Given the description of an element on the screen output the (x, y) to click on. 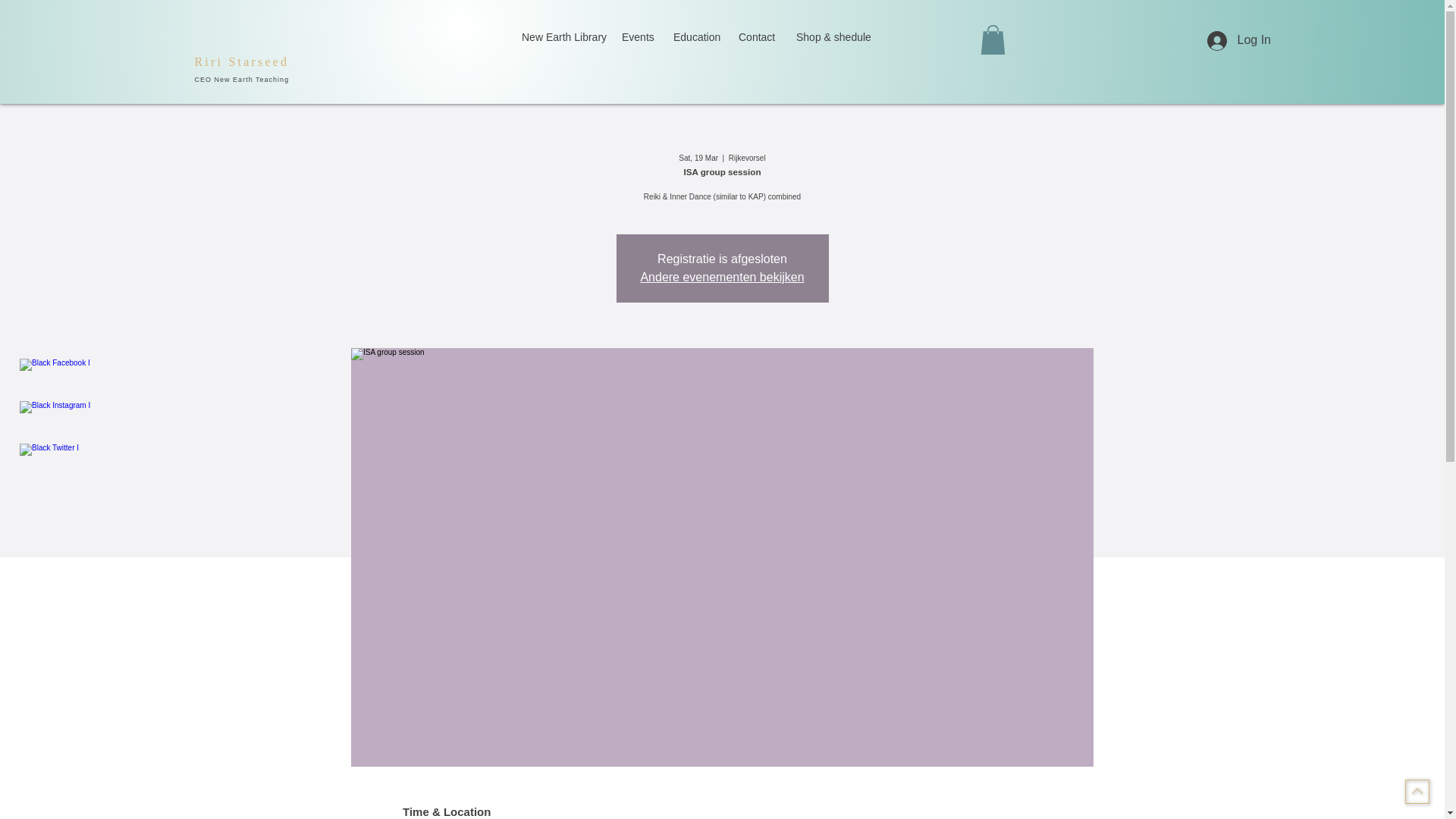
Andere evenementen bekijken (721, 277)
Events (636, 37)
Riri Starseed (240, 61)
New Earth Library (560, 37)
Contact (755, 37)
Log In (1238, 39)
Education (694, 37)
